Given the description of an element on the screen output the (x, y) to click on. 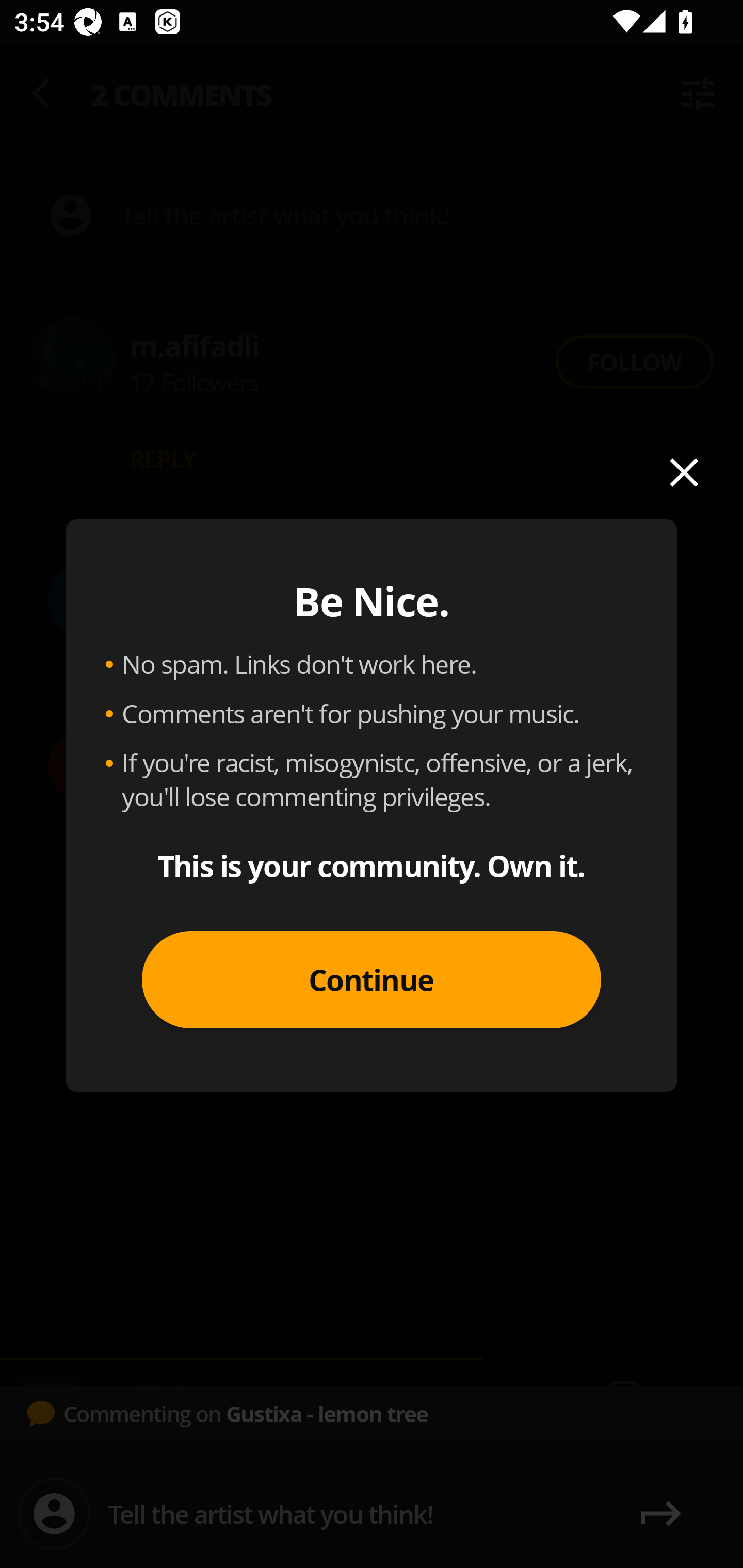
Close (683, 472)
Continue (371, 979)
